Given the description of an element on the screen output the (x, y) to click on. 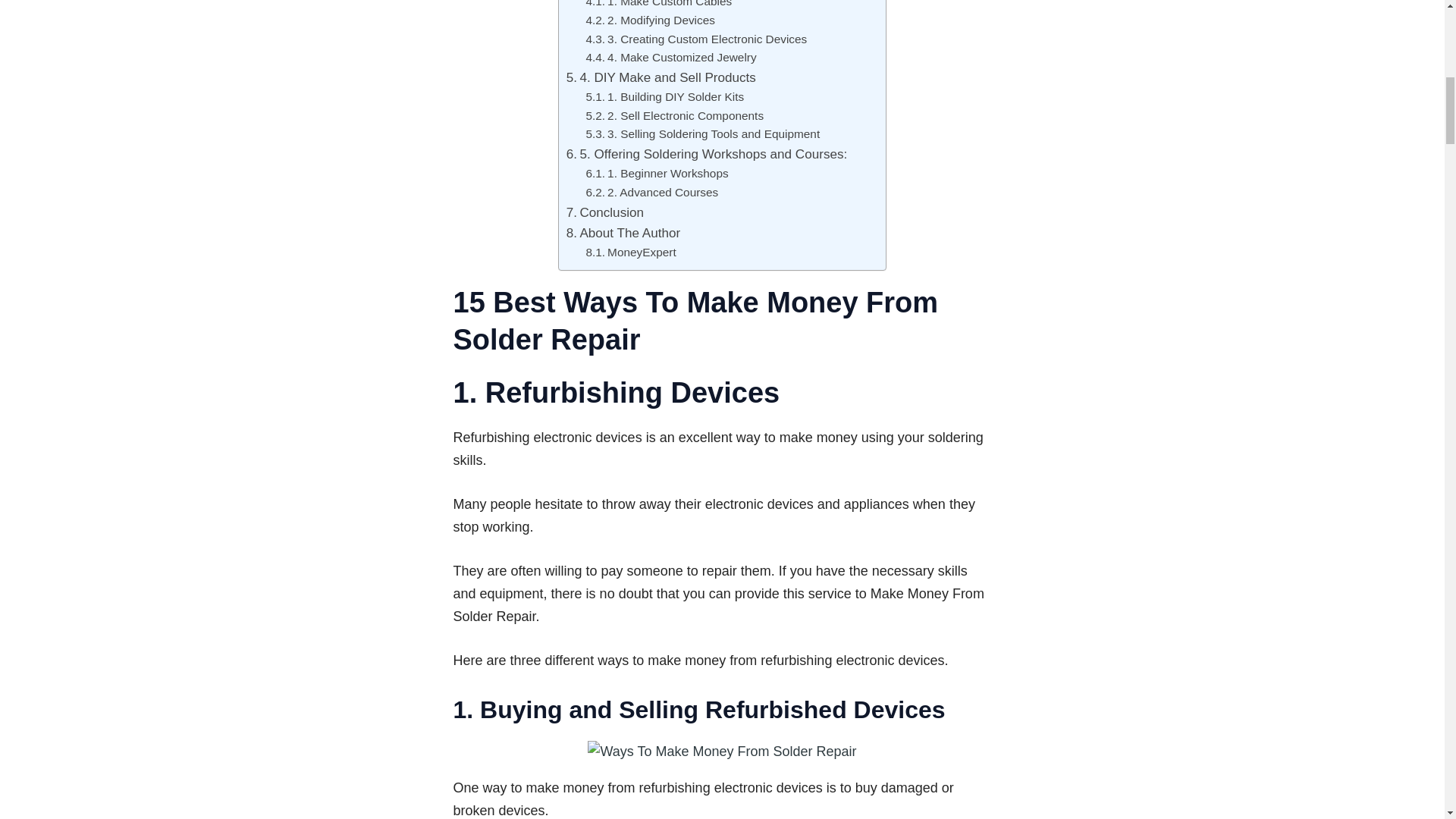
1. Beginner Workshops (656, 173)
3. Creating Custom Electronic Devices (695, 39)
3. Selling Soldering Tools and Equipment (702, 134)
1. Building DIY Solder Kits (664, 97)
5. Offering Soldering Workshops and Courses: (706, 154)
2. Sell Electronic Components (673, 116)
4. DIY Make and Sell Products (660, 77)
4. Make Customized Jewelry (670, 57)
2. Modifying Devices (649, 20)
1. Make Custom Cables (658, 5)
